Given the description of an element on the screen output the (x, y) to click on. 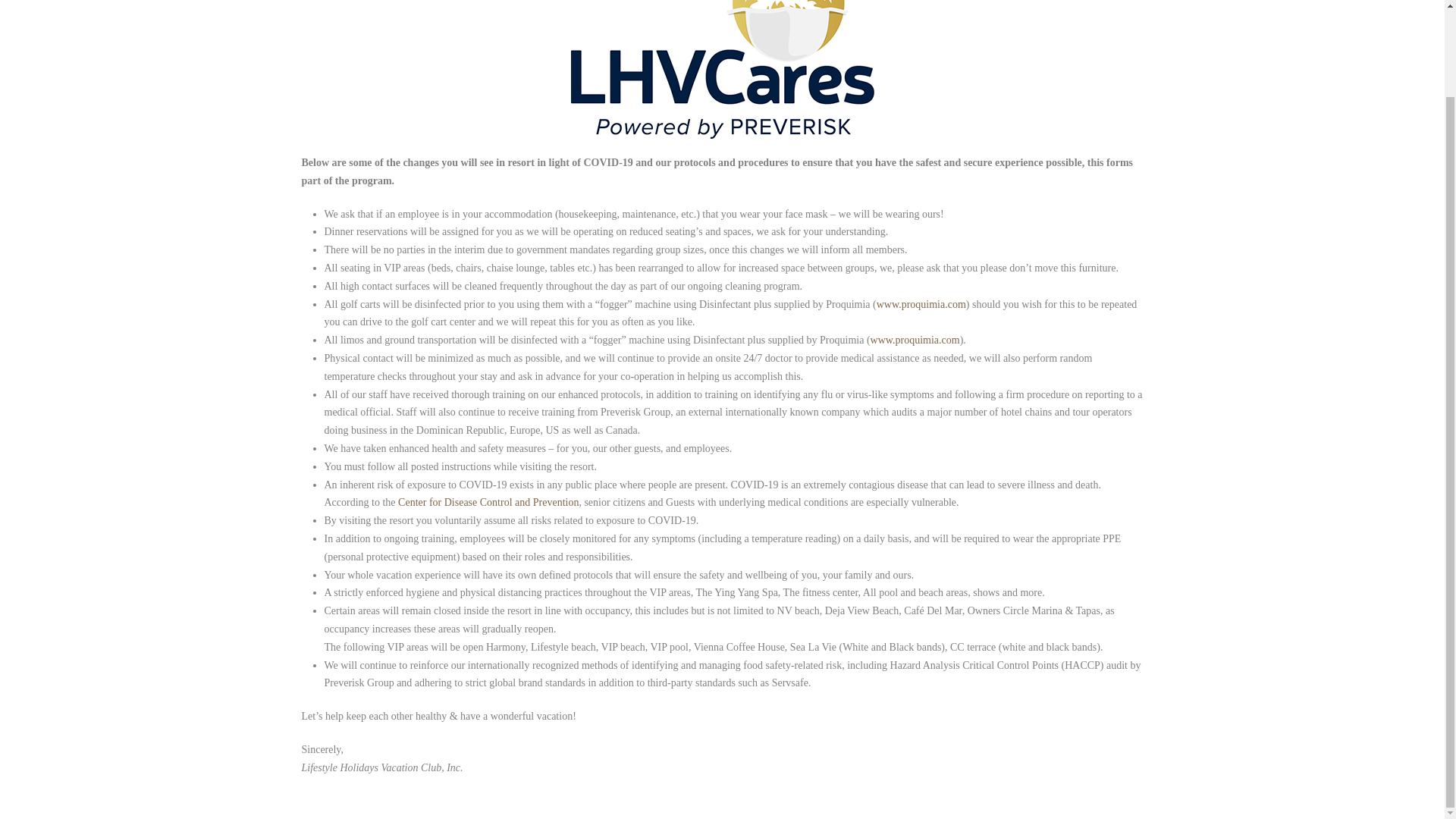
www.proquimia.com (921, 304)
www.proquimia.com (914, 339)
Center for Disease Control and Prevention (487, 501)
